Given the description of an element on the screen output the (x, y) to click on. 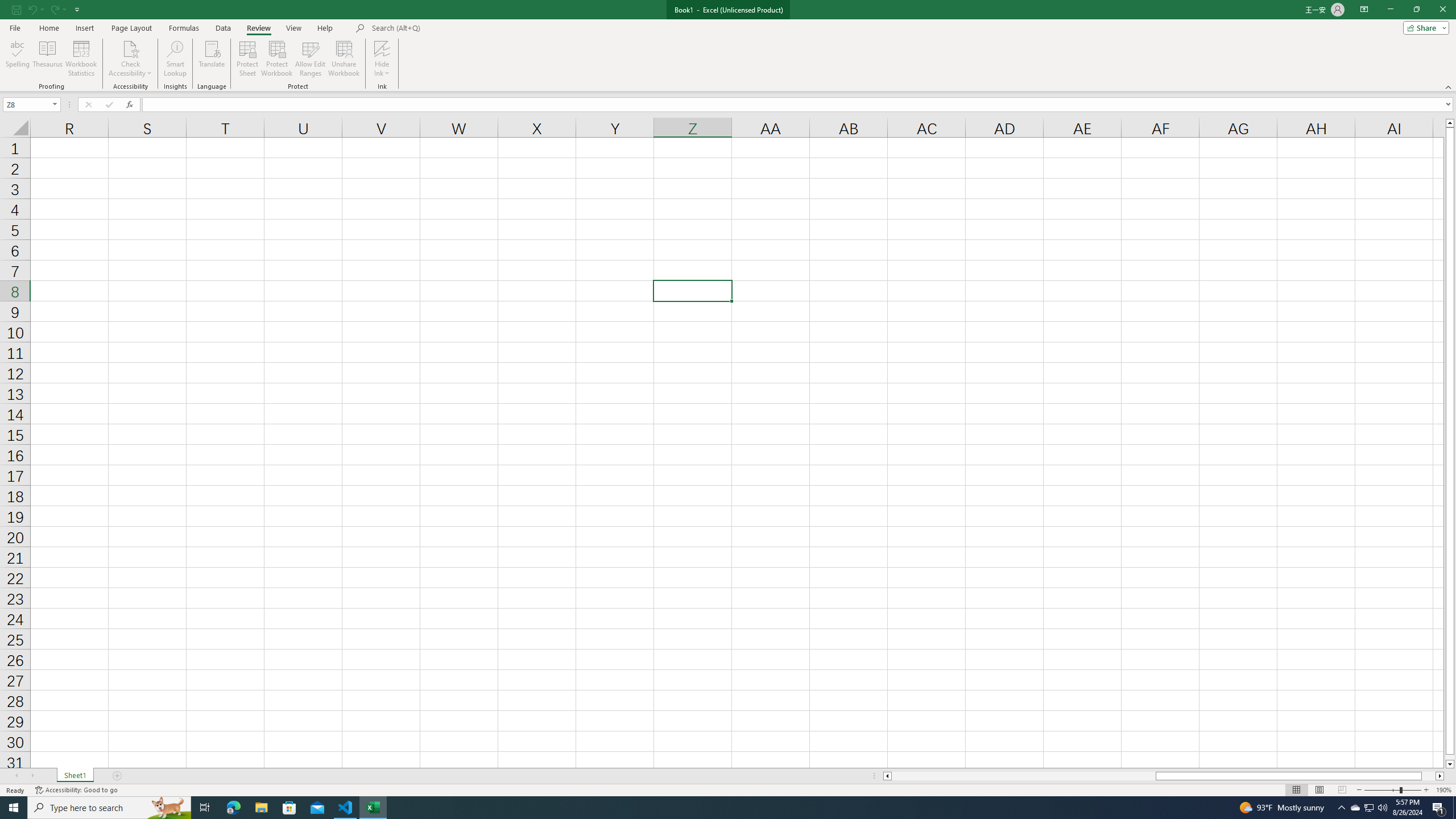
Customize Quick Access Toolbar (77, 9)
Restore Down (1416, 9)
Smart Lookup (175, 58)
System (6, 6)
Sheet1 (74, 775)
Page Break Preview (1342, 790)
Save (16, 9)
Accessibility Checker Accessibility: Good to go (76, 790)
Unshare Workbook (344, 58)
Redo (53, 9)
Home (48, 28)
Class: NetUIScrollBar (1163, 775)
Page down (1449, 757)
